Given the description of an element on the screen output the (x, y) to click on. 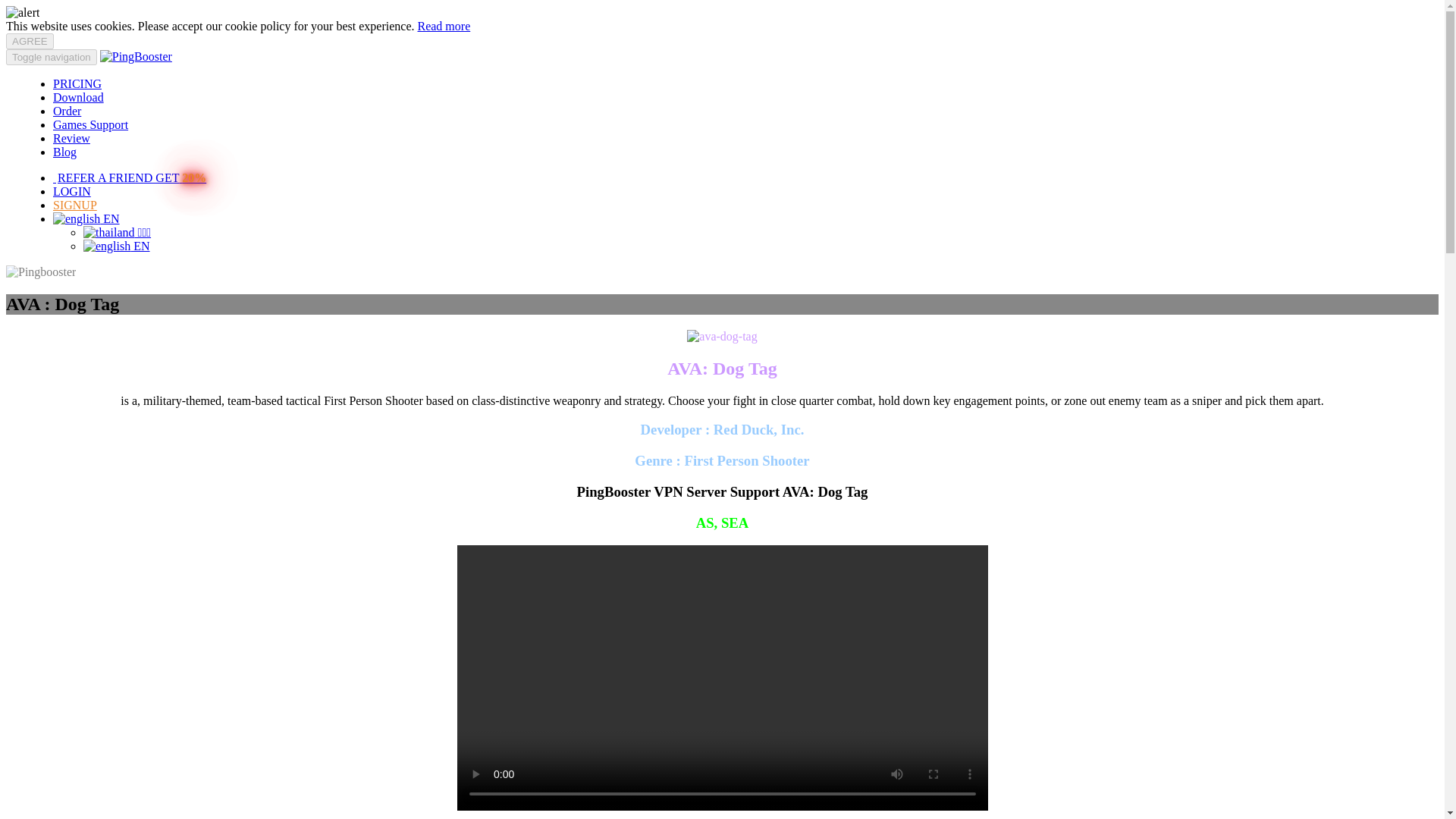
LOGIN (71, 191)
Review (71, 137)
PRICING (76, 83)
Read more (443, 25)
AGREE (29, 41)
SIGNUP (74, 205)
Download (77, 97)
Toggle navigation (51, 57)
Games Support (90, 124)
EN (115, 245)
